Given the description of an element on the screen output the (x, y) to click on. 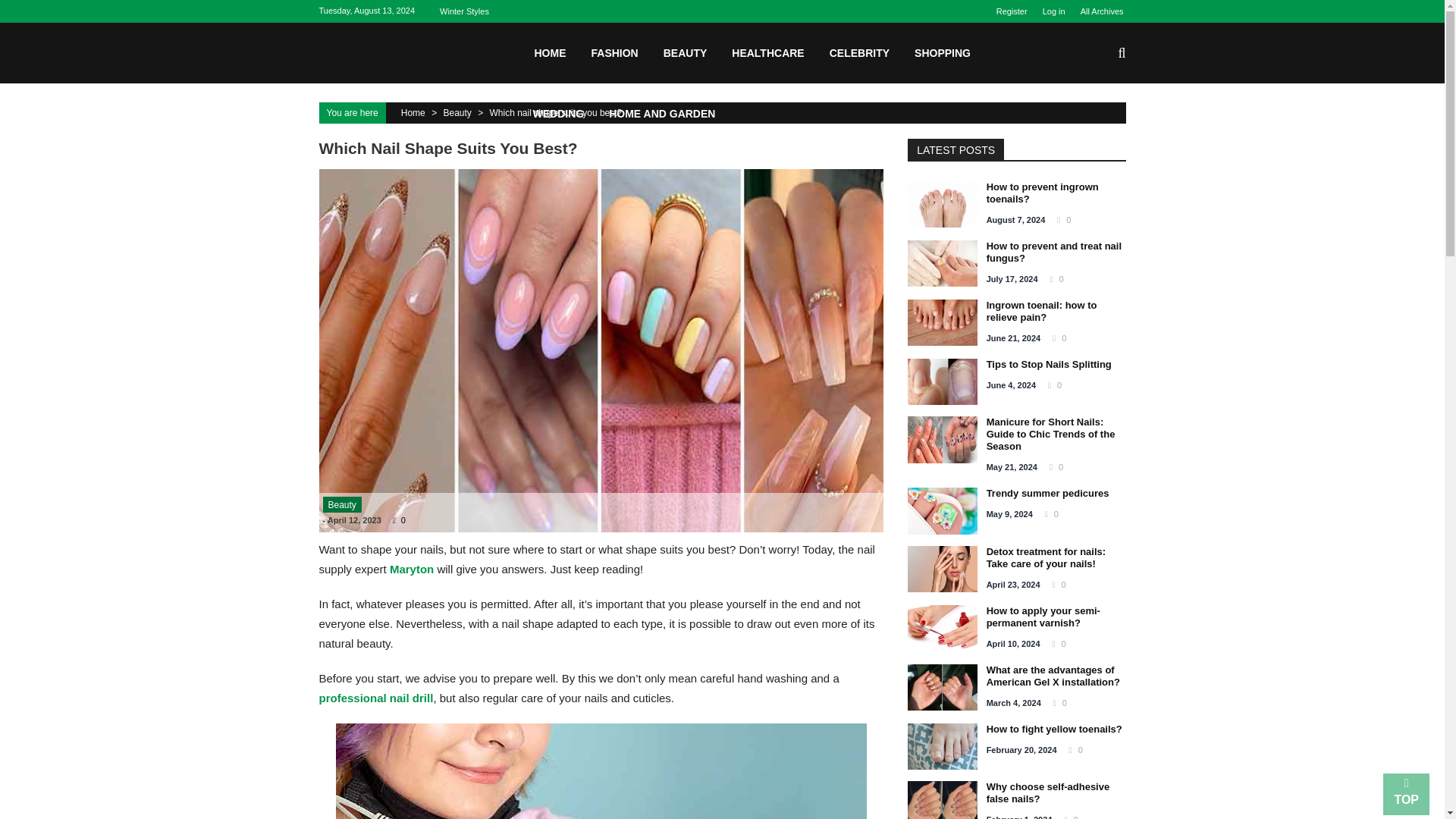
FASHION (615, 52)
All Archives (1098, 10)
Register (1015, 10)
HOME AND GARDEN (661, 113)
BEAUTY (685, 52)
SHOPPING (942, 52)
Beauty (456, 112)
HEALTHCARE (767, 52)
Maryton (411, 568)
professional nail drill (375, 697)
